Given the description of an element on the screen output the (x, y) to click on. 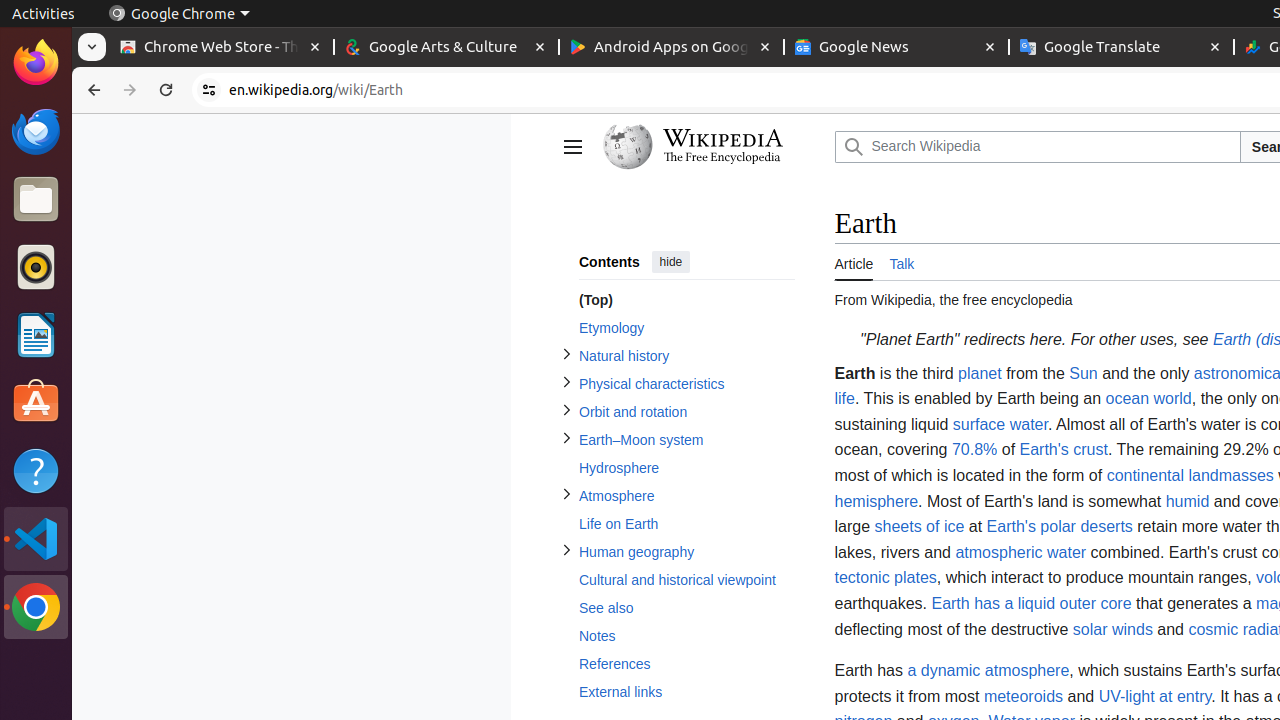
Google Arts & Culture - Memory usage - 64.0 MB Element type: page-tab (446, 47)
Toggle Human geography subsection Element type: push-button (566, 550)
Android Apps on Google Play - Memory usage - 68.6 MB Element type: page-tab (671, 47)
70.8% Element type: link (974, 449)
Earth has a liquid outer core Element type: link (1031, 603)
